Given the description of an element on the screen output the (x, y) to click on. 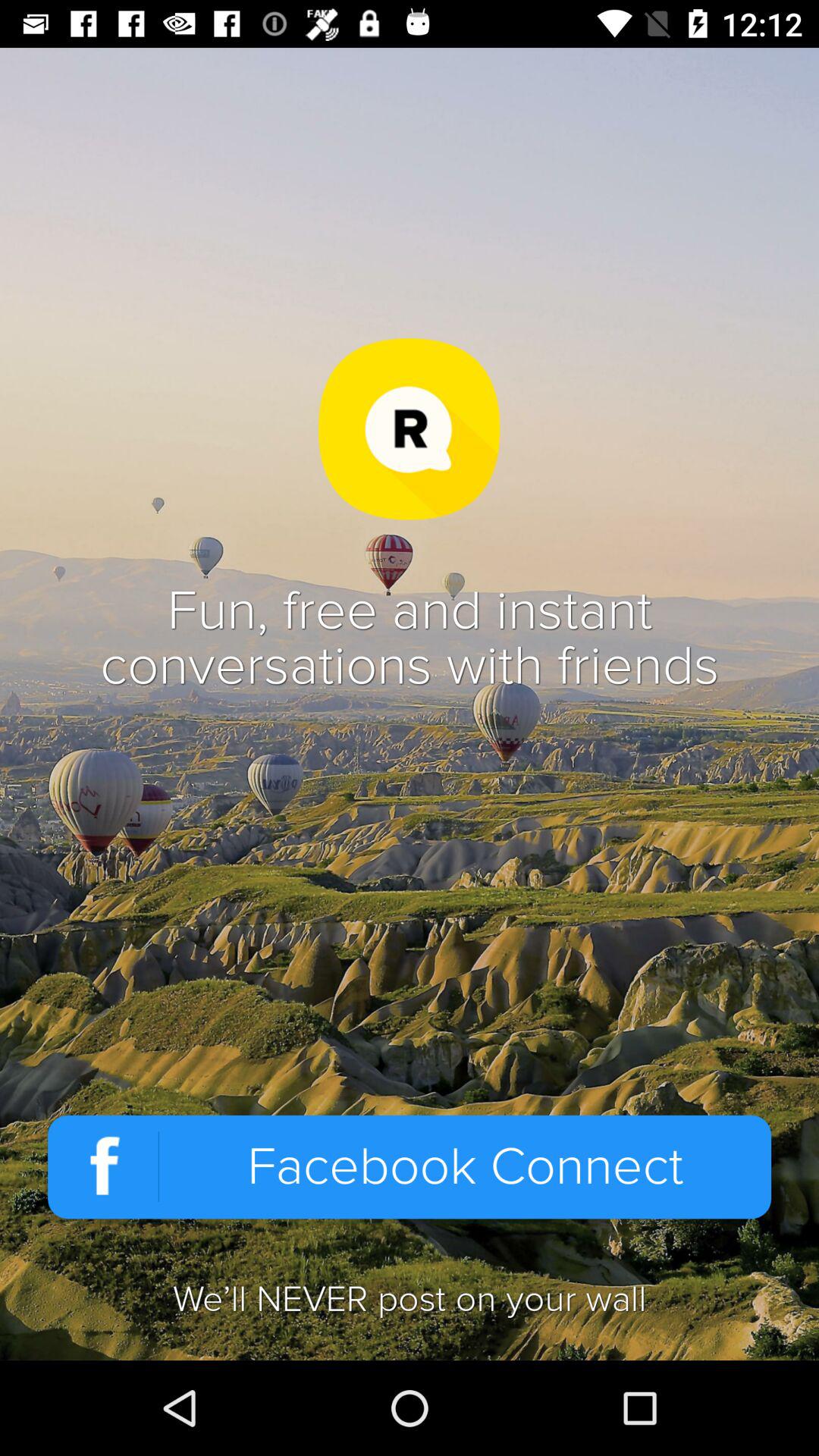
open app above the we ll never (409, 1166)
